Given the description of an element on the screen output the (x, y) to click on. 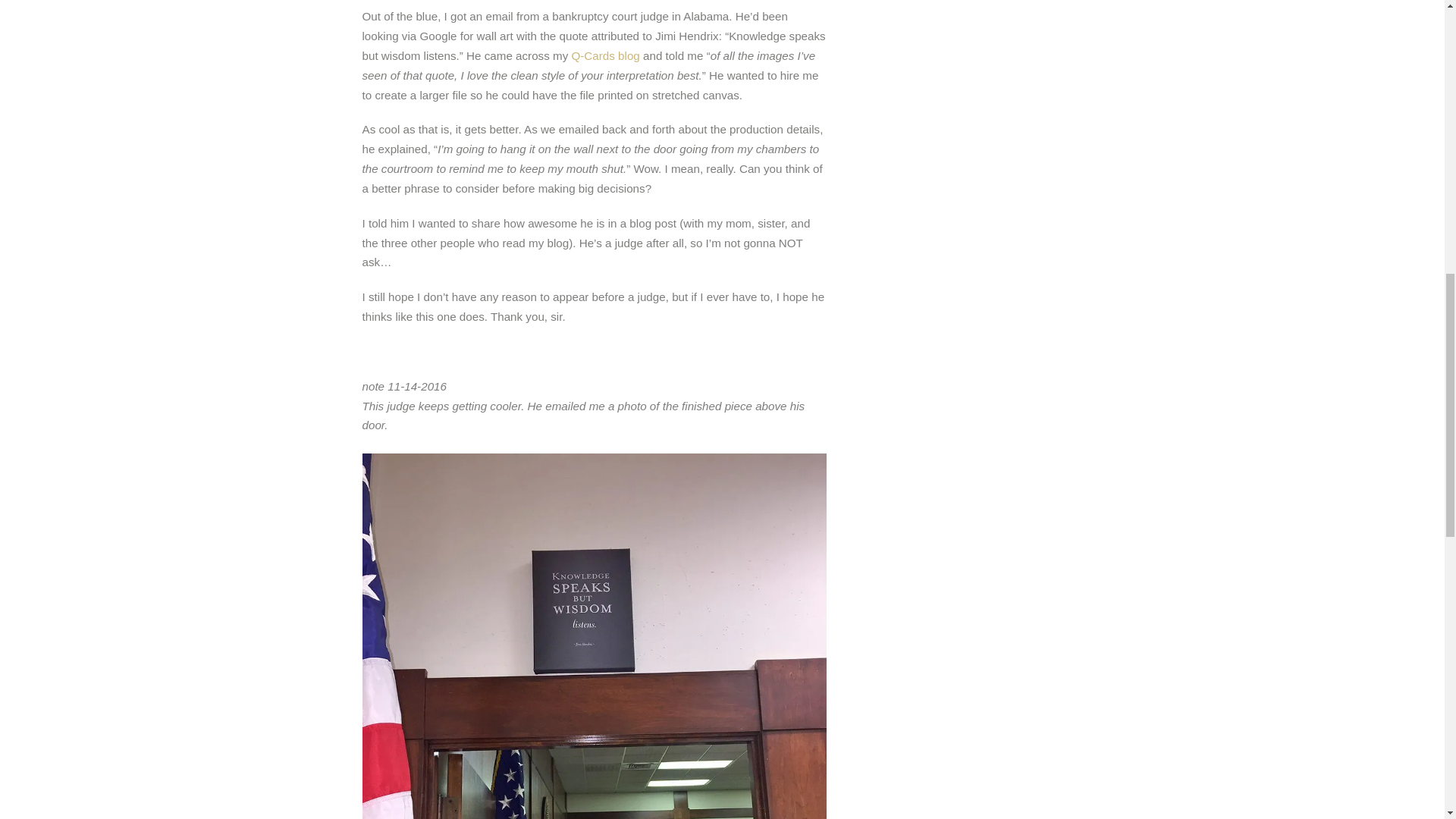
Q-Cards blog (606, 55)
